Given the description of an element on the screen output the (x, y) to click on. 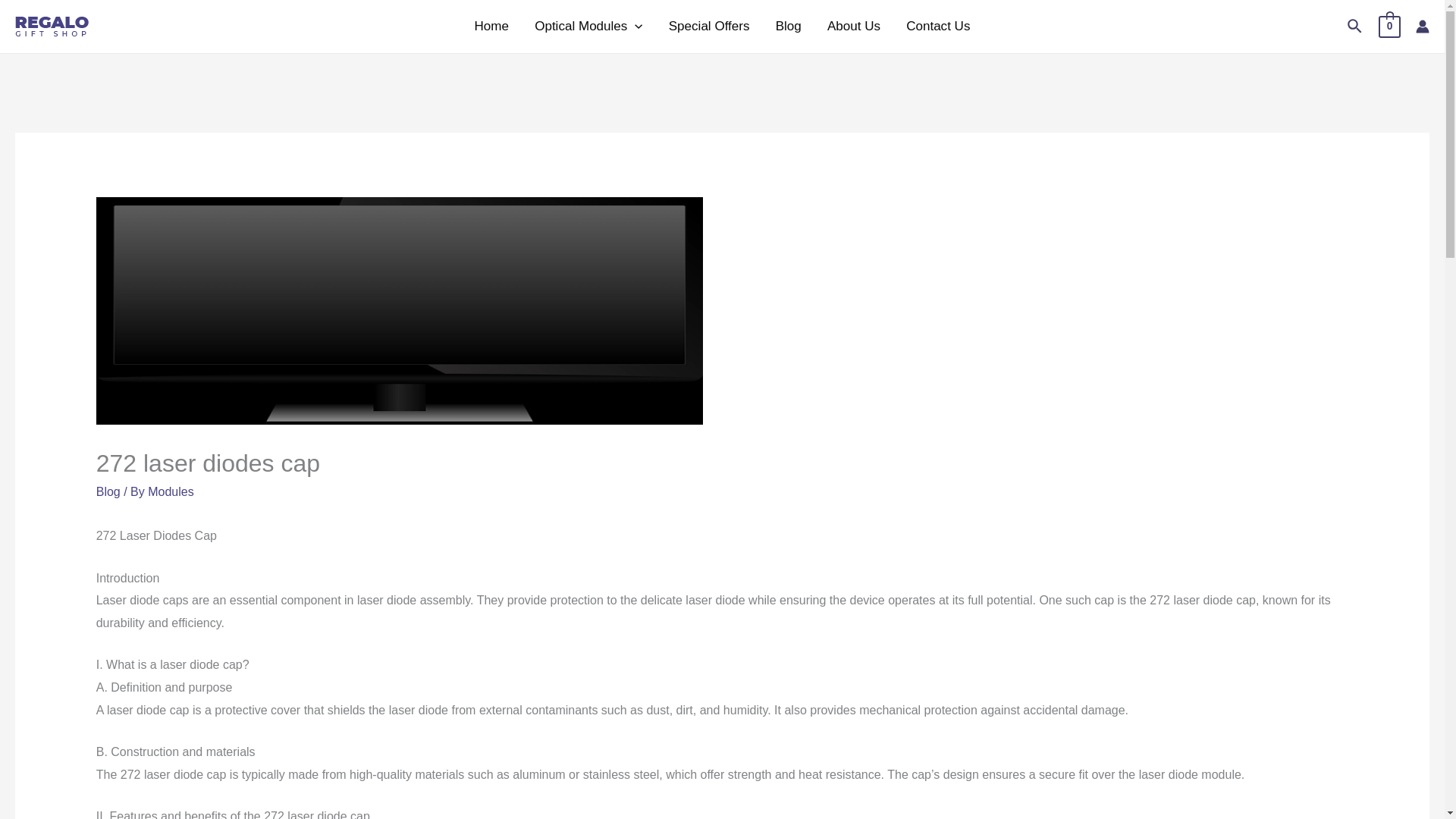
Home (491, 26)
Optical Modules (588, 26)
View your shopping cart (1389, 25)
View all posts by Modules (170, 491)
